Given the description of an element on the screen output the (x, y) to click on. 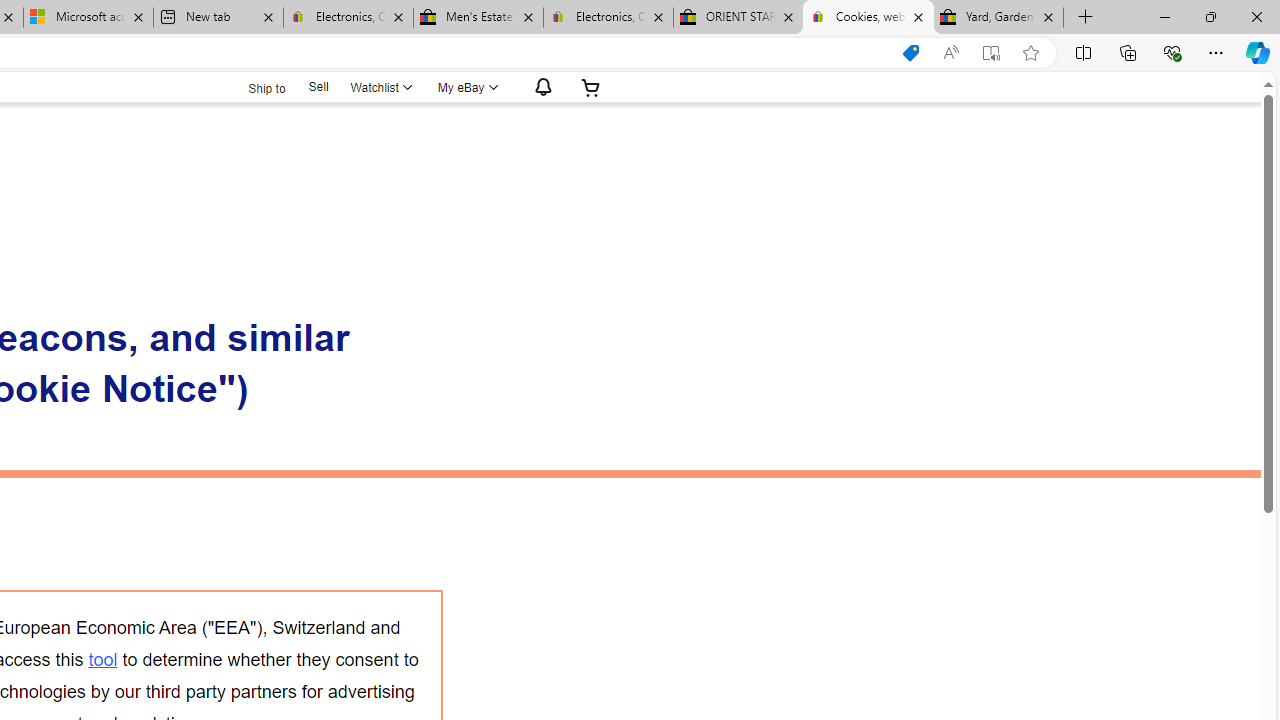
AutomationID: gh-eb-Alerts (540, 87)
Sell (317, 86)
Ship to (253, 88)
